Given the description of an element on the screen output the (x, y) to click on. 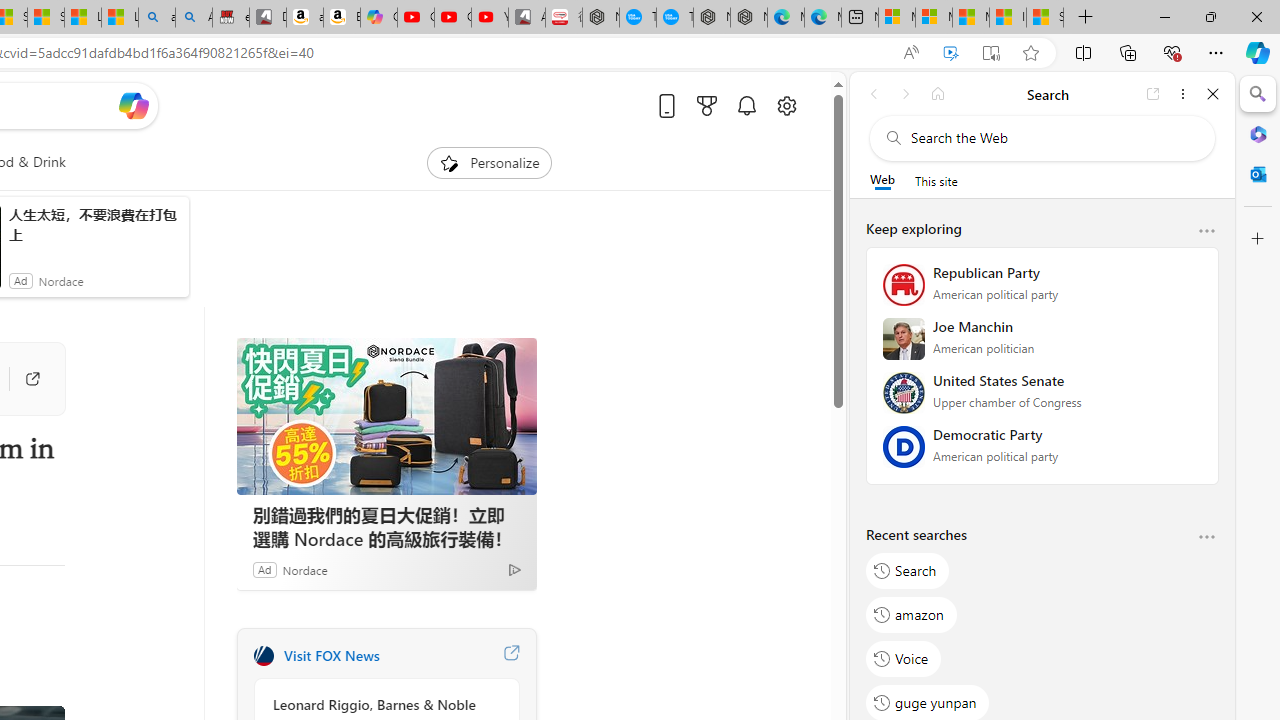
Nordace - My Account (600, 17)
Microsoft rewards (707, 105)
YouTube Kids - An App Created for Kids to Explore Content (490, 17)
I Gained 20 Pounds of Muscle in 30 Days! | Watch (1007, 17)
All Cubot phones (527, 17)
Forward (906, 93)
Nordace - Nordace has arrived Hong Kong (748, 17)
amazon.in/dp/B0CX59H5W7/?tag=gsmcom05-21 (304, 17)
